Given the description of an element on the screen output the (x, y) to click on. 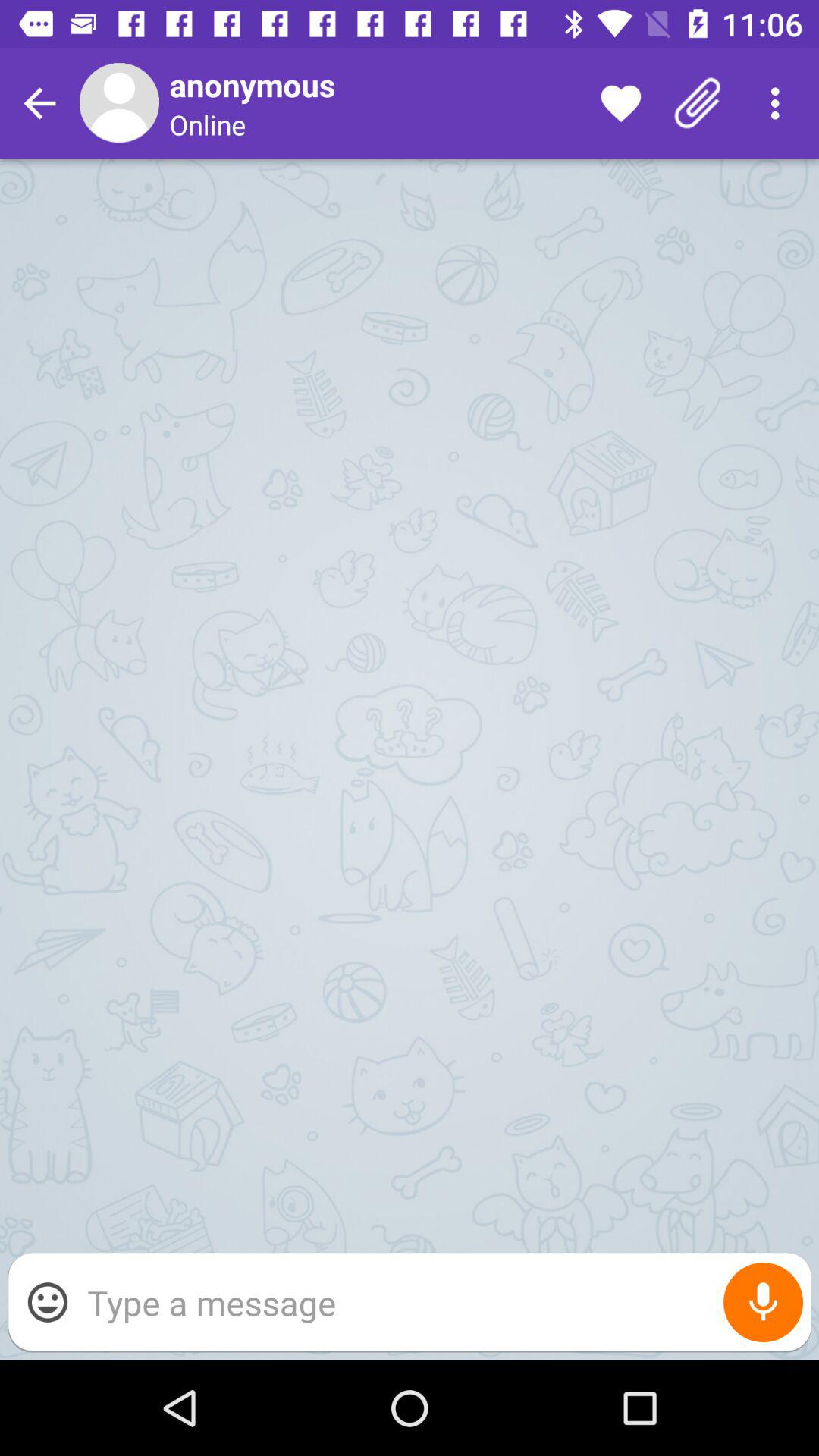
go back go to previous (39, 103)
